Given the description of an element on the screen output the (x, y) to click on. 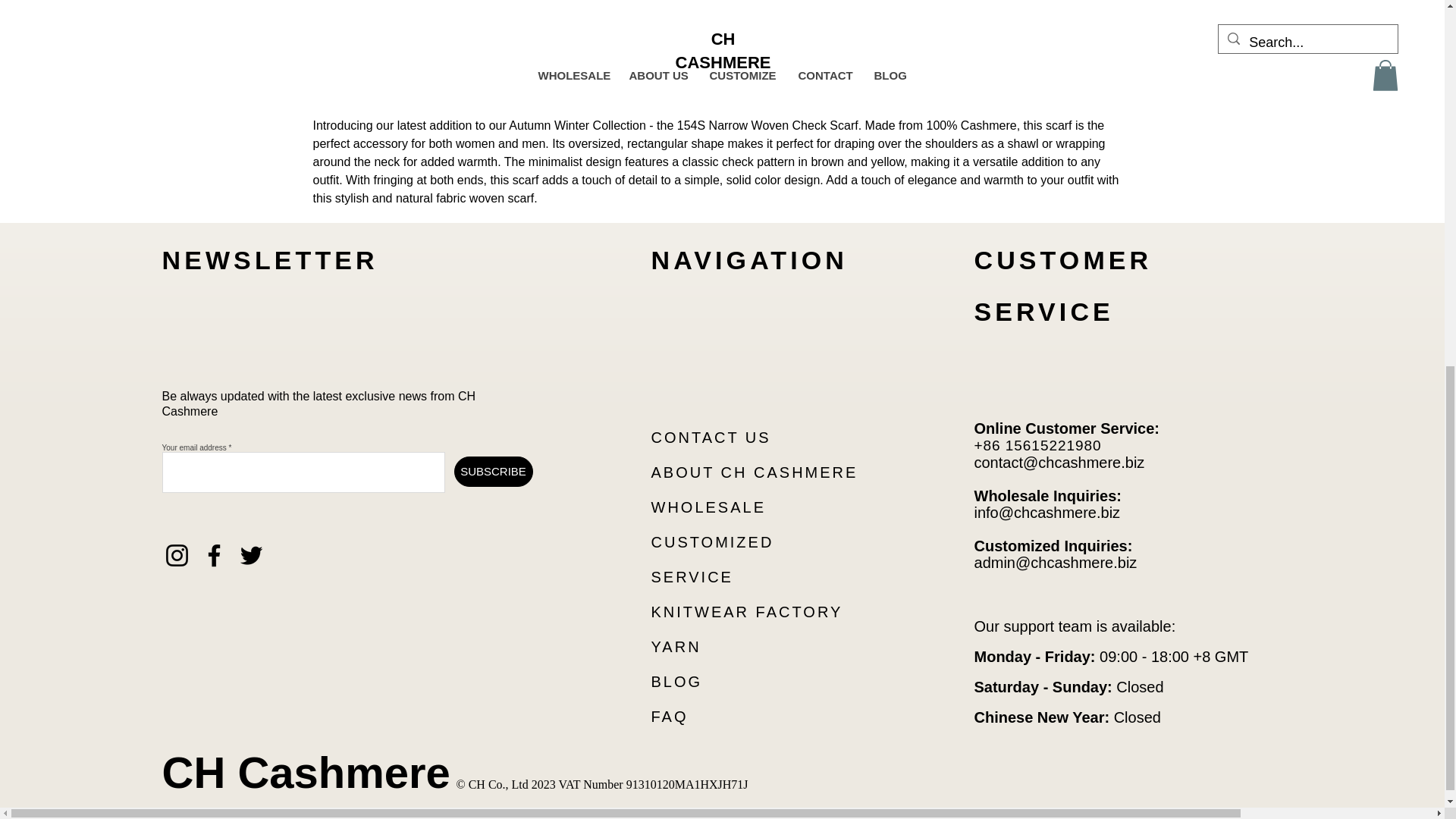
FAQ (668, 716)
CUSTOMER SERVICE (1062, 285)
Online Customer Service: (1066, 428)
CONTACT US (710, 437)
CUSTOMIZED SERVICE (711, 559)
SUBSCRIBE (492, 471)
YARN (675, 646)
NEWSLETTER (269, 259)
KNITWEAR FACTORY (746, 611)
BLOG (675, 681)
